Given the description of an element on the screen output the (x, y) to click on. 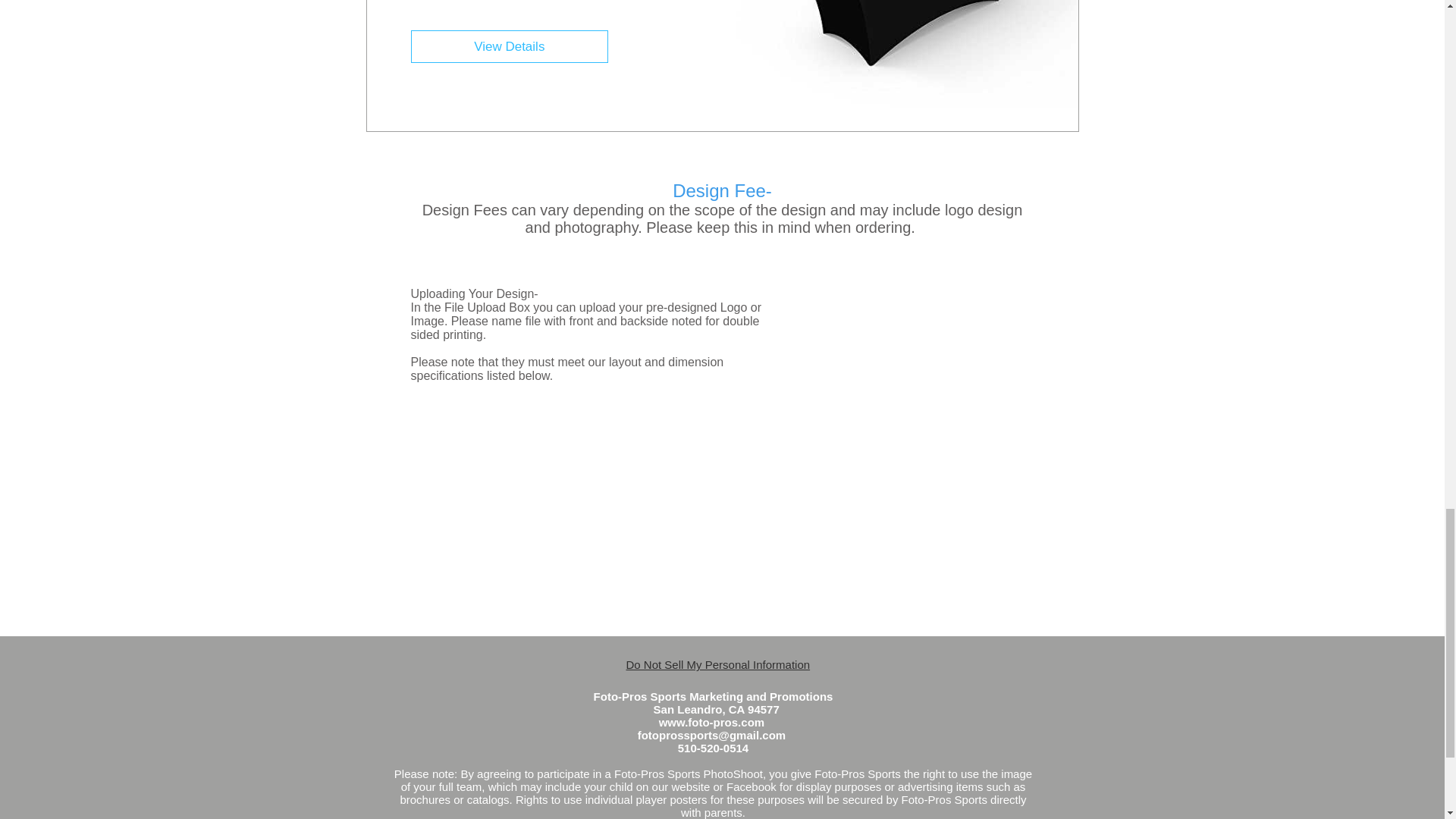
View Details (508, 46)
Do Not Sell My Personal Information (718, 664)
www.foto-pros.com (711, 721)
